Given the description of an element on the screen output the (x, y) to click on. 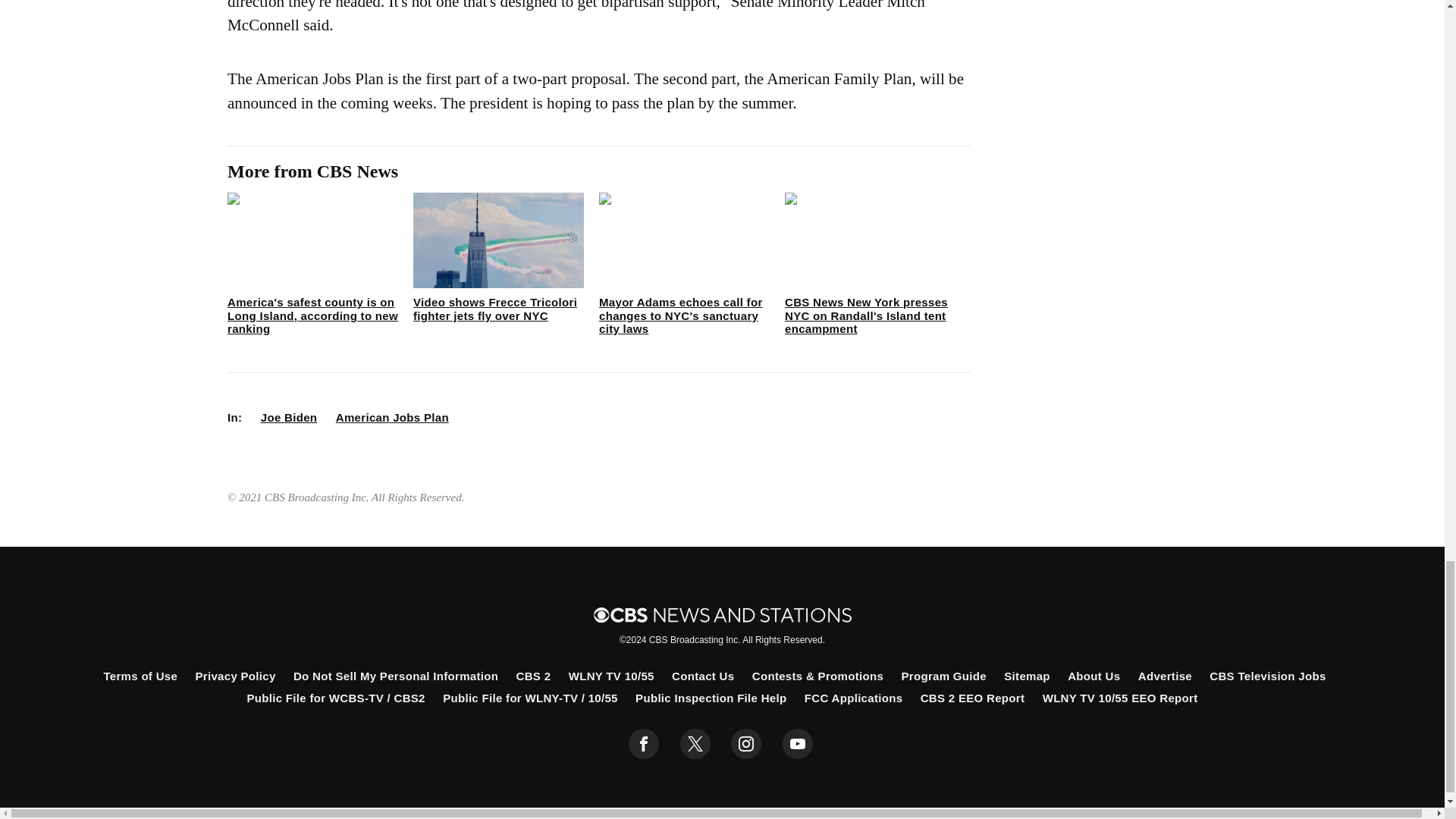
youtube (797, 743)
twitter (694, 743)
instagram (745, 743)
facebook (643, 743)
